Given the description of an element on the screen output the (x, y) to click on. 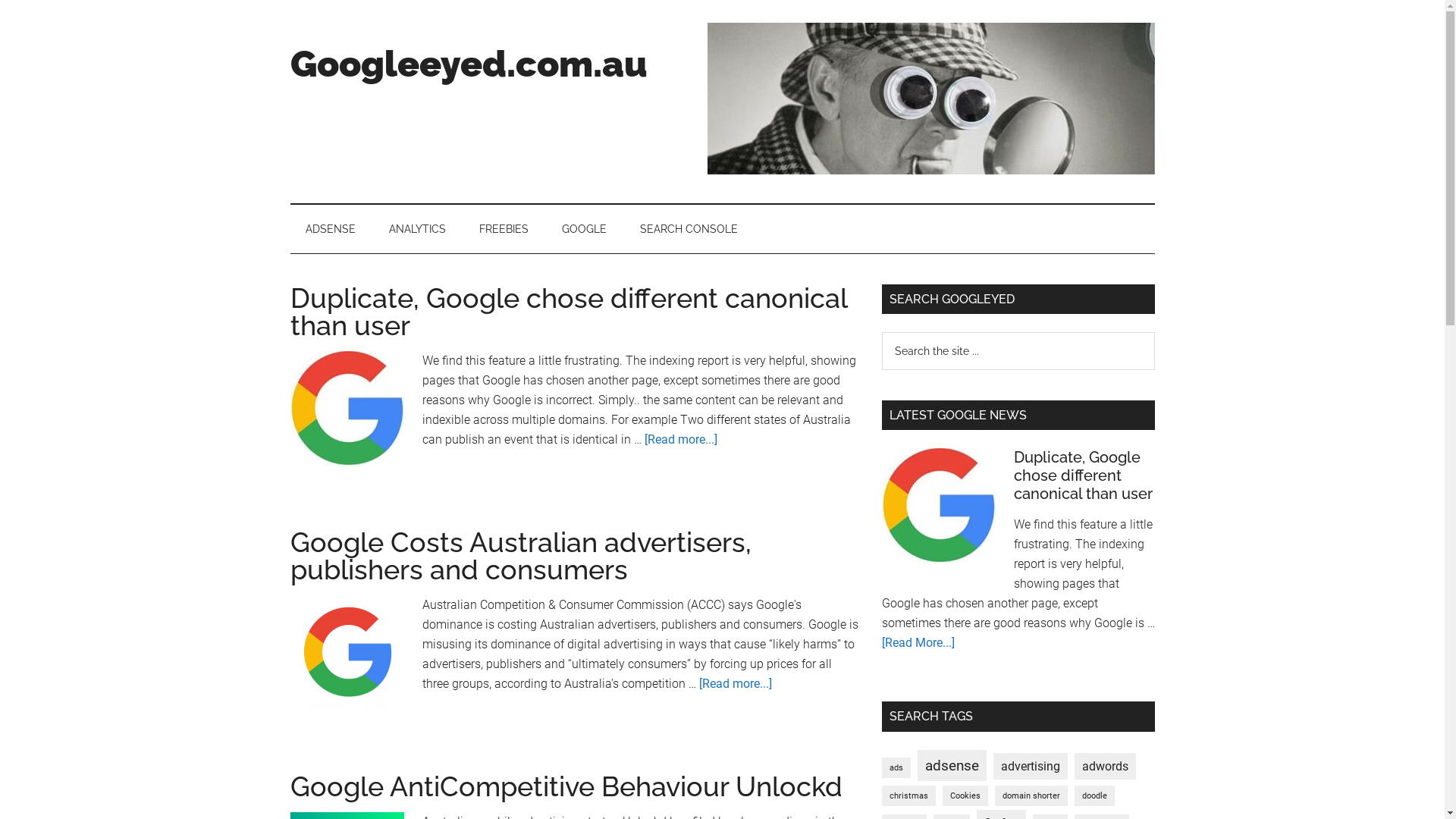
Duplicate, Google chose different canonical than user Element type: text (567, 311)
doodle Element type: text (1093, 795)
christmas Element type: text (908, 795)
adwords Element type: text (1104, 766)
adsense Element type: text (951, 765)
Google AntiCompetitive Behaviour Unlockd Element type: text (565, 786)
Duplicate, Google chose different canonical than user Element type: text (1082, 475)
ads Element type: text (895, 767)
Skip to main content Element type: text (0, 0)
ADSENSE Element type: text (329, 228)
GOOGLE Element type: text (583, 228)
ANALYTICS Element type: text (416, 228)
domain shorter Element type: text (1030, 795)
Cookies Element type: text (964, 795)
advertising Element type: text (1030, 766)
SEARCH CONSOLE Element type: text (688, 228)
Googleeyed.com.au Element type: text (467, 63)
Search Element type: text (1154, 331)
FREEBIES Element type: text (503, 228)
